Given the description of an element on the screen output the (x, y) to click on. 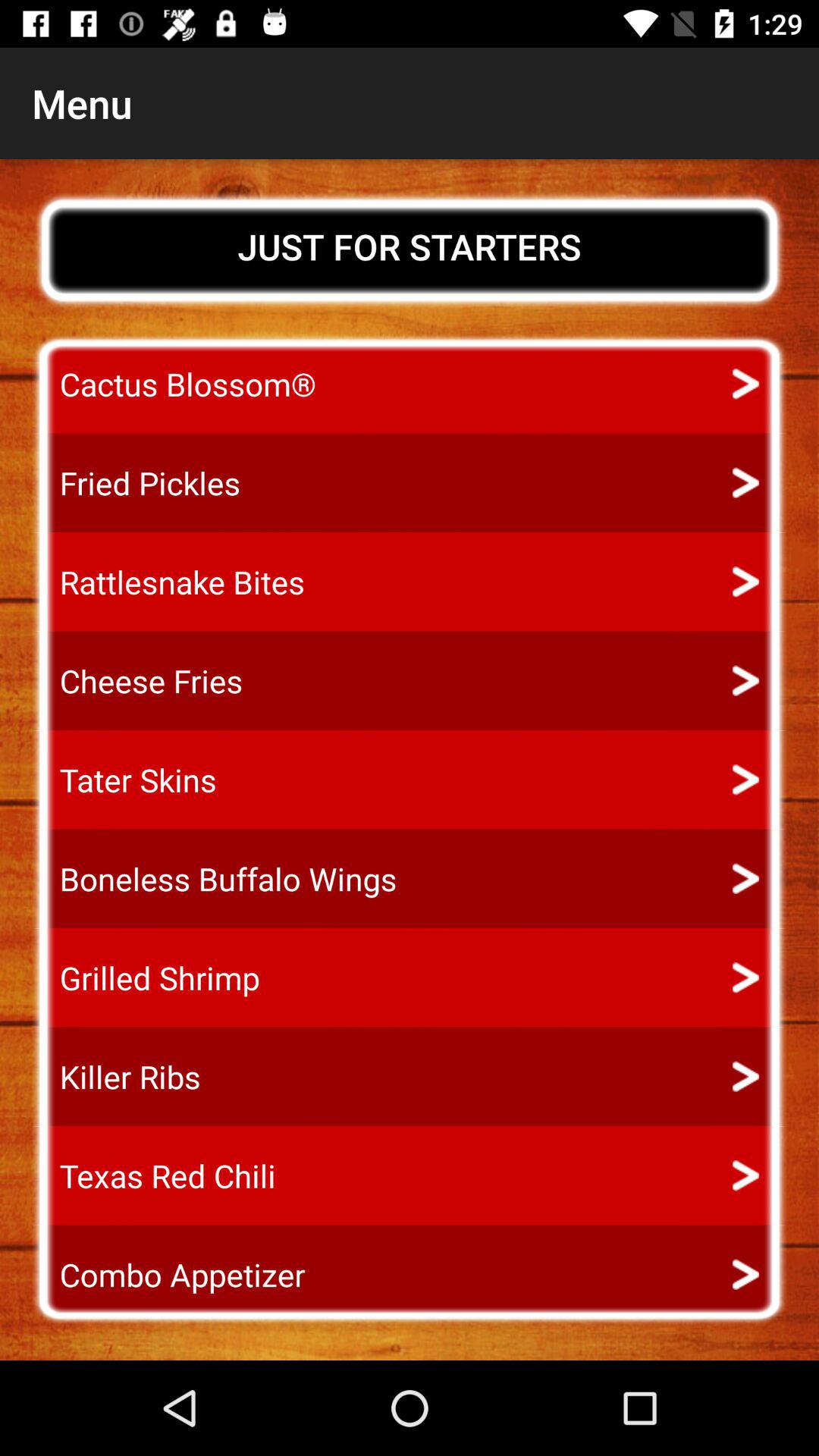
turn on app above the rattlesnake bites icon (135, 482)
